Given the description of an element on the screen output the (x, y) to click on. 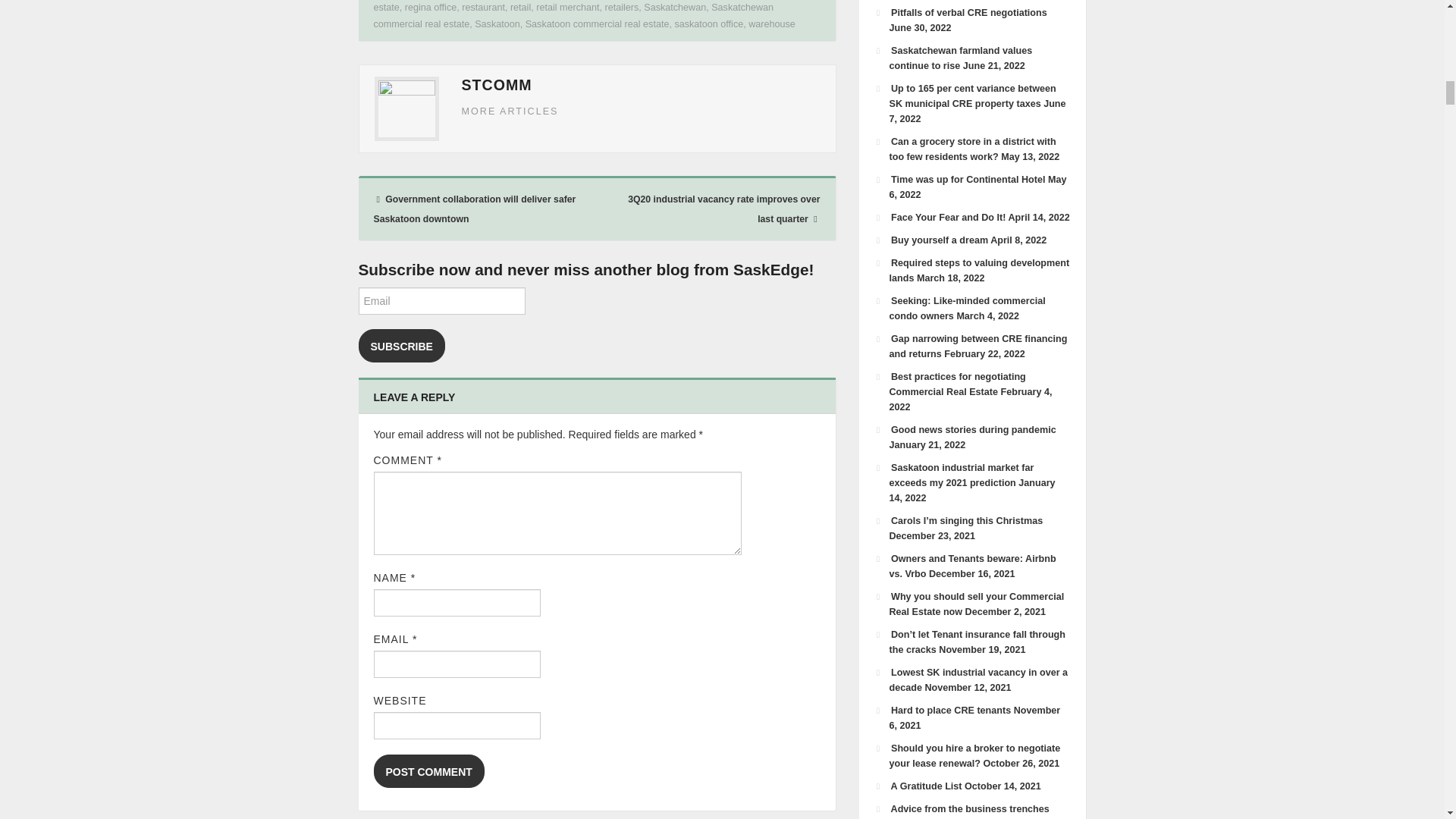
Saskatchewan (674, 7)
Saskatoon (496, 23)
retailers (622, 7)
retail (521, 7)
regina office (430, 7)
Saskatoon commercial real estate (597, 23)
Post Comment (427, 770)
retail merchant (566, 7)
Saskatchewan commercial real estate (572, 16)
restaurant (483, 7)
regina commercial commercial real estate (593, 6)
saskatoon office (708, 23)
Subscribe (401, 345)
